Given the description of an element on the screen output the (x, y) to click on. 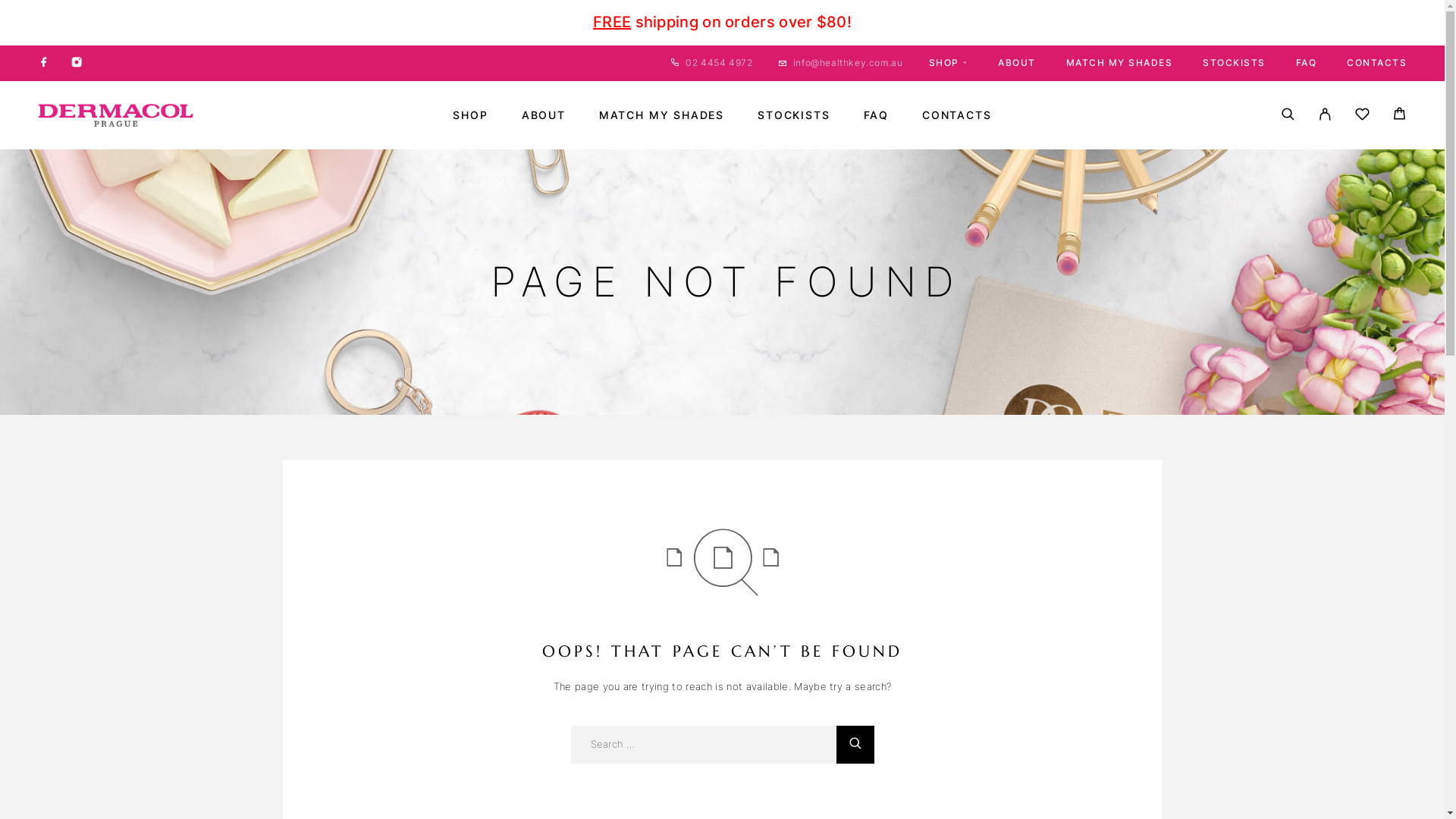
CONTACTS Element type: text (1376, 62)
STOCKISTS Element type: text (793, 115)
FAQ Element type: text (875, 115)
Login Element type: hover (1324, 114)
MATCH MY SHADES Element type: text (1119, 62)
MATCH MY SHADES Element type: text (661, 115)
STOCKISTS Element type: text (1233, 62)
CONTACTS Element type: text (956, 115)
SHOP Element type: text (469, 115)
ABOUT Element type: text (543, 115)
02 4454 4972 Element type: text (718, 62)
SHOP Element type: text (947, 62)
info@healthkey.com.au Element type: text (848, 62)
FAQ Element type: text (1305, 62)
ABOUT Element type: text (1016, 62)
